Given the description of an element on the screen output the (x, y) to click on. 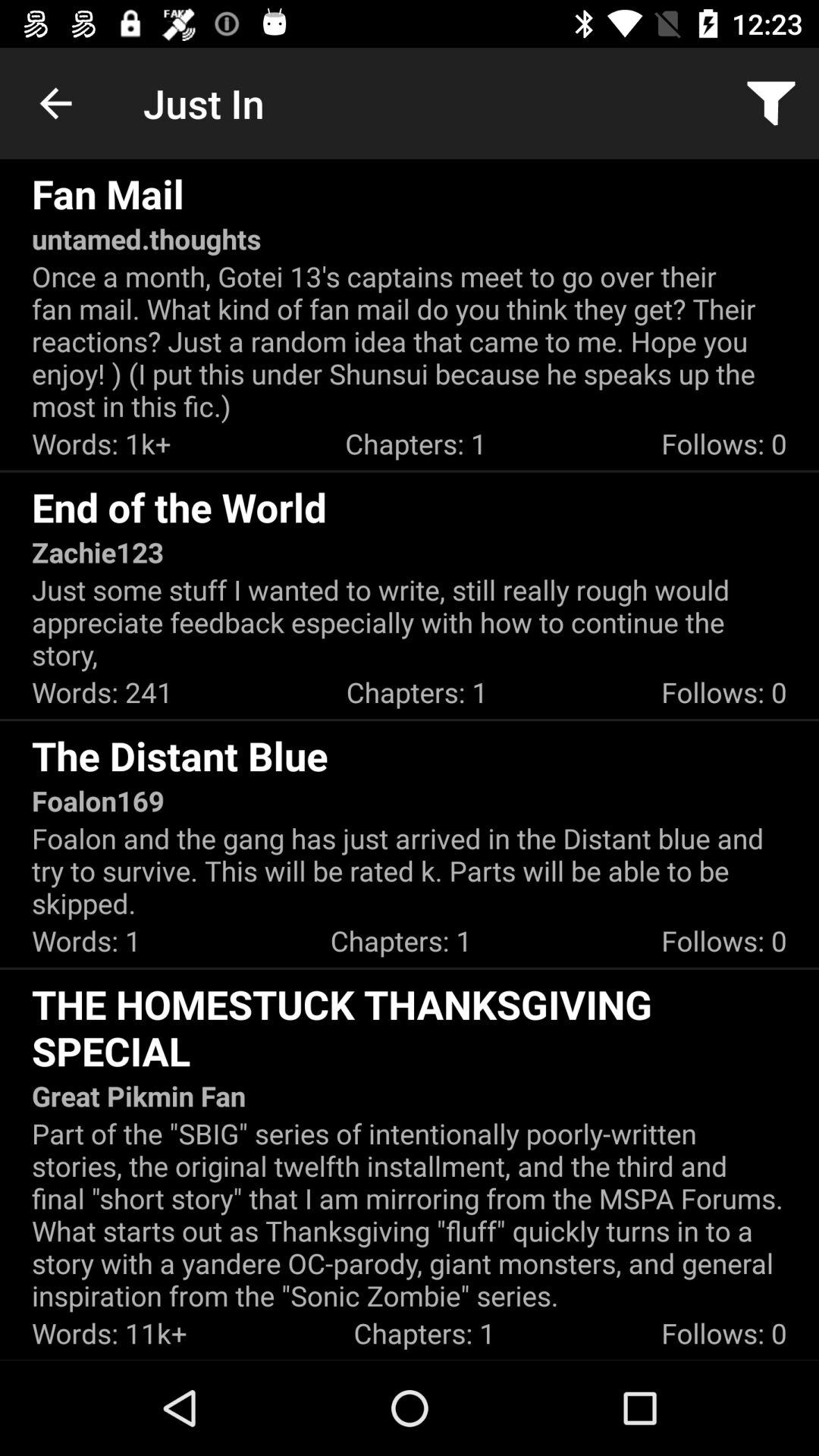
tap the homestuck thanksgiving (409, 1027)
